Given the description of an element on the screen output the (x, y) to click on. 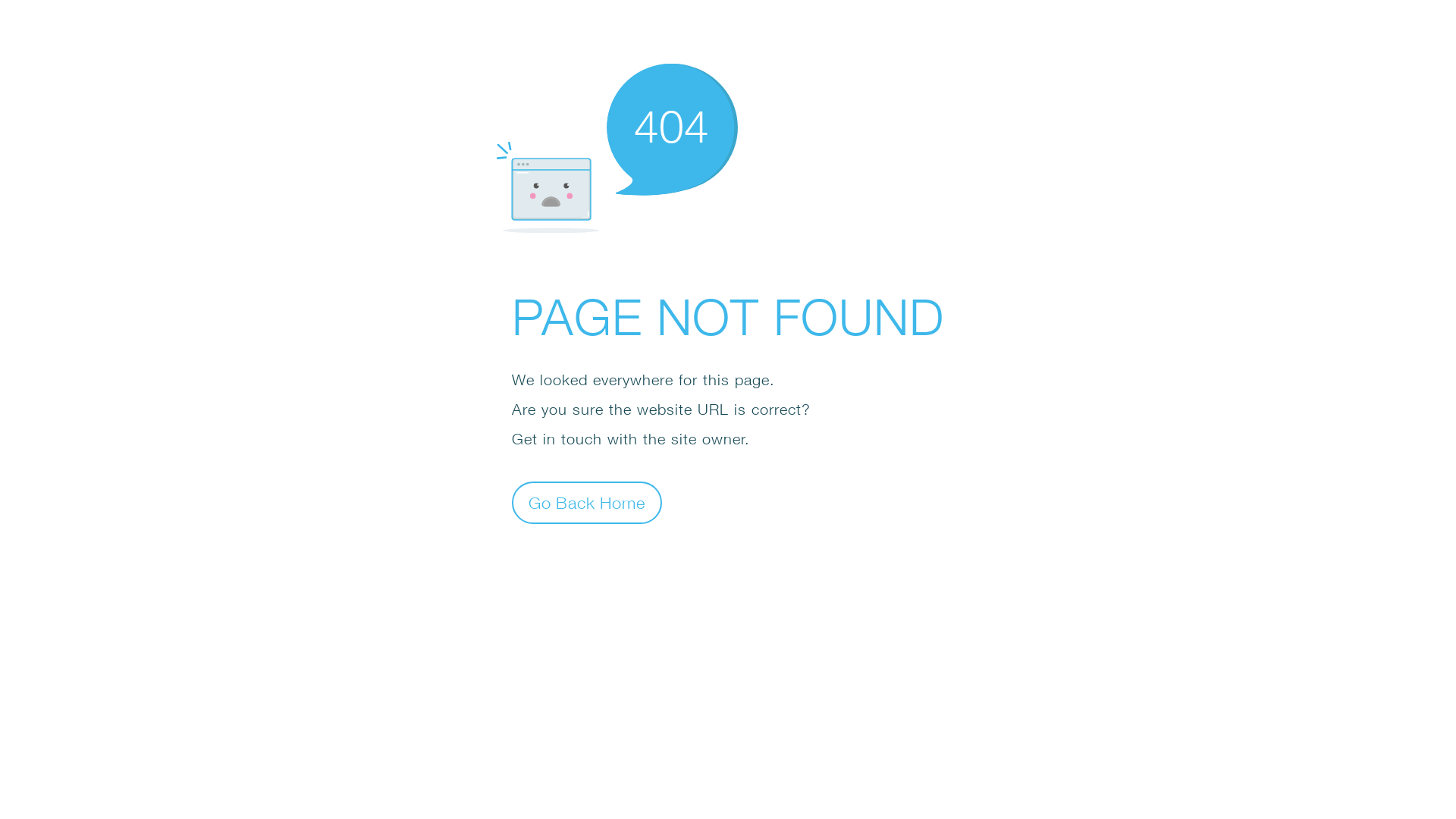
Go Back Home Element type: text (586, 502)
